Given the description of an element on the screen output the (x, y) to click on. 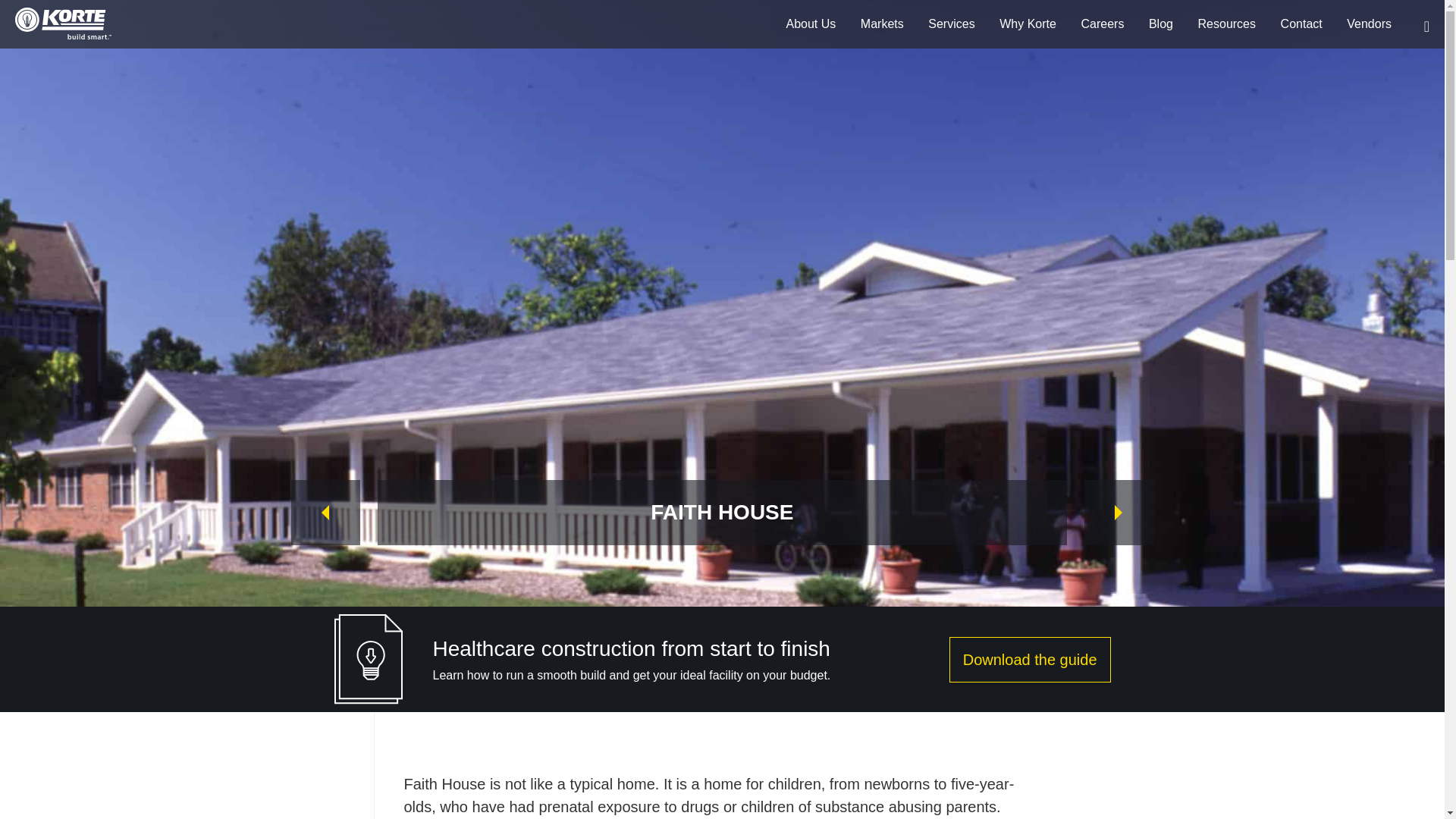
The Korte Company (63, 23)
About Us (810, 24)
Markets (882, 24)
